Given the description of an element on the screen output the (x, y) to click on. 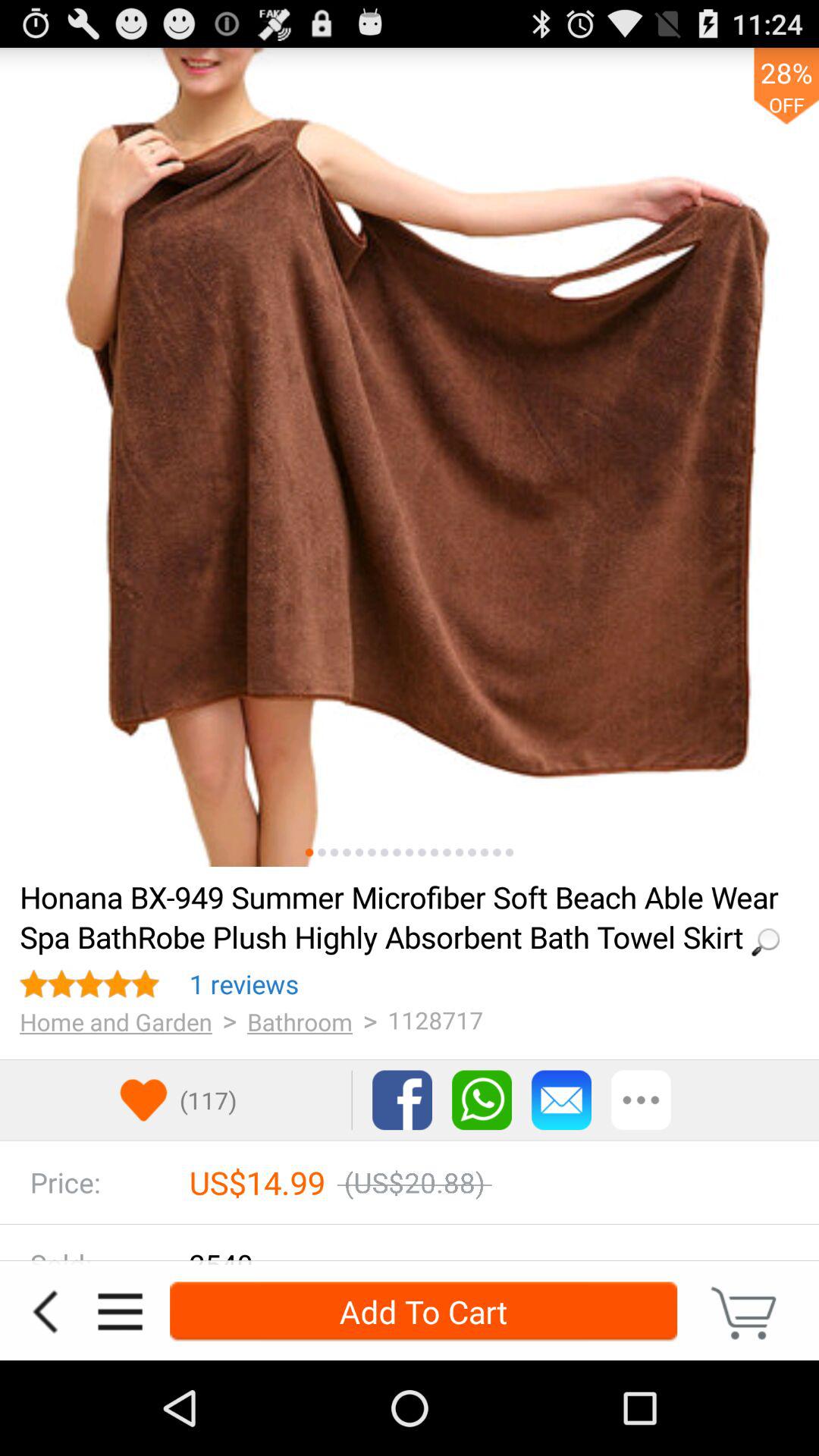
go back (45, 1311)
